Given the description of an element on the screen output the (x, y) to click on. 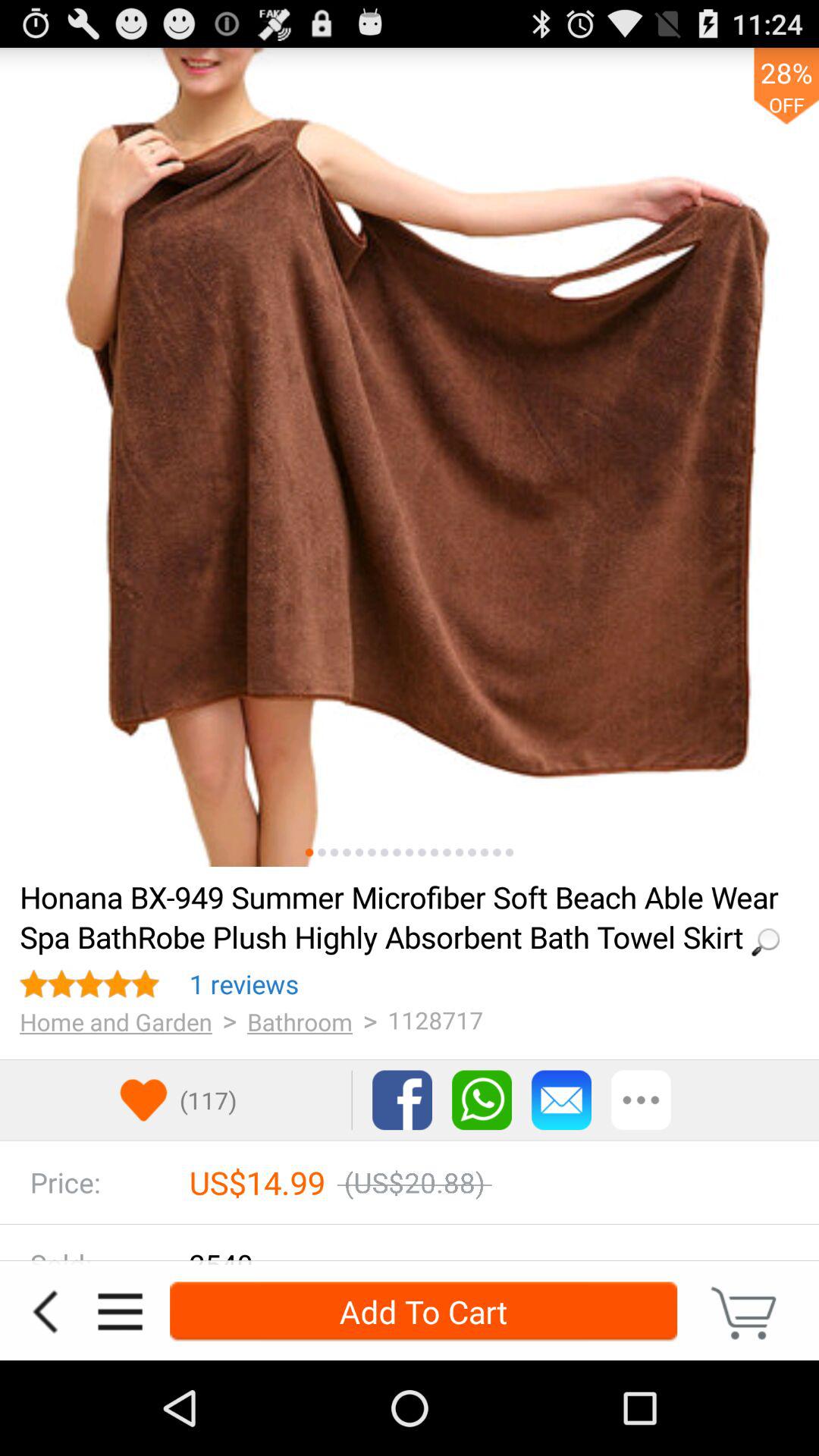
go back (45, 1311)
